Given the description of an element on the screen output the (x, y) to click on. 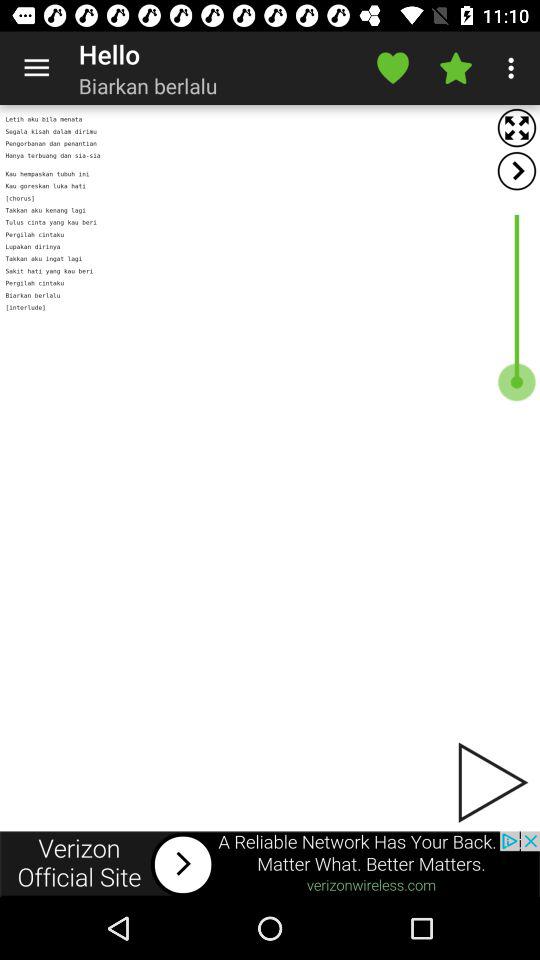
go to another site (270, 864)
